Given the description of an element on the screen output the (x, y) to click on. 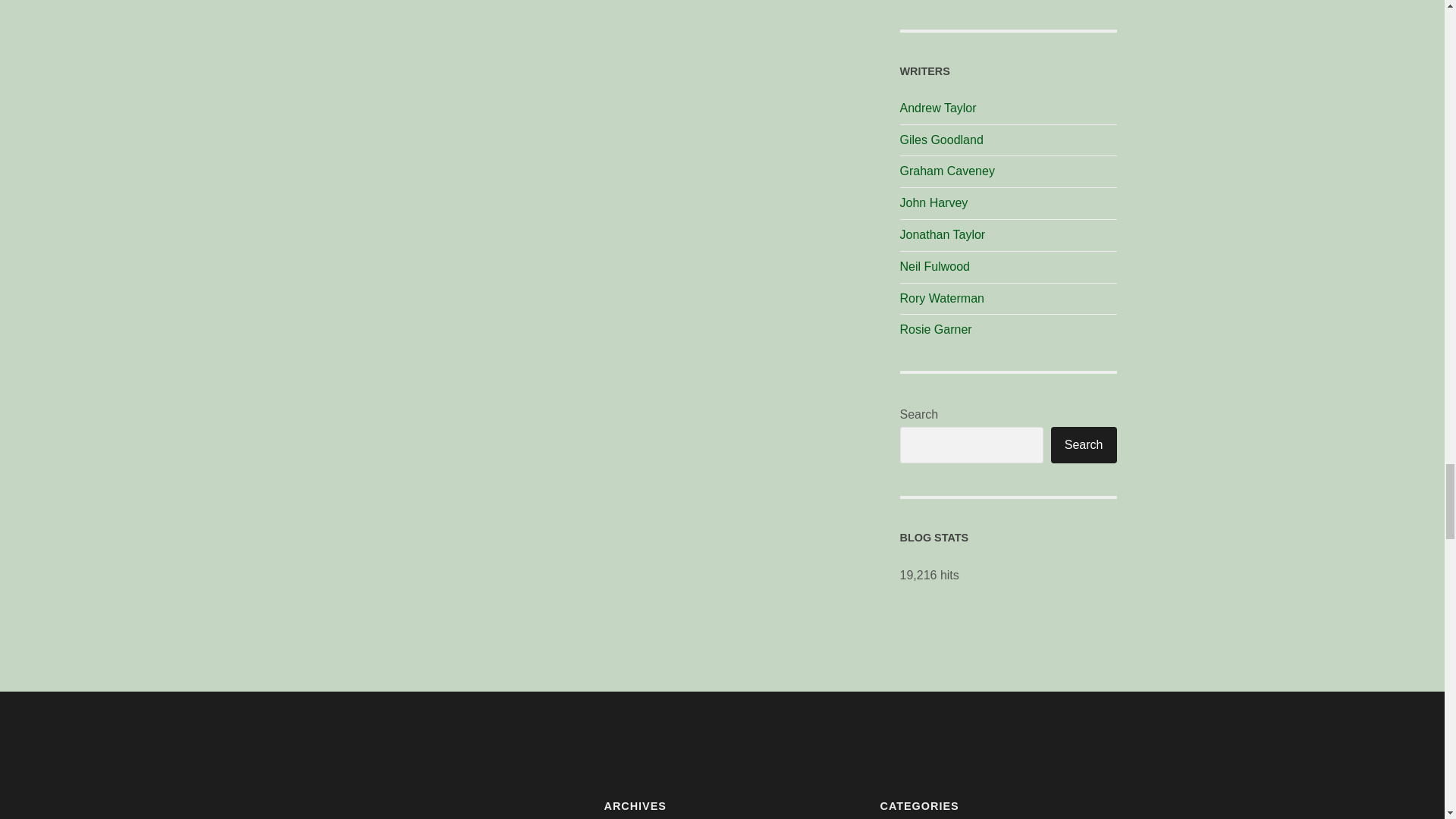
poet (937, 107)
poet (940, 139)
crime writer (933, 202)
Writer (942, 234)
Poet (941, 297)
